Given the description of an element on the screen output the (x, y) to click on. 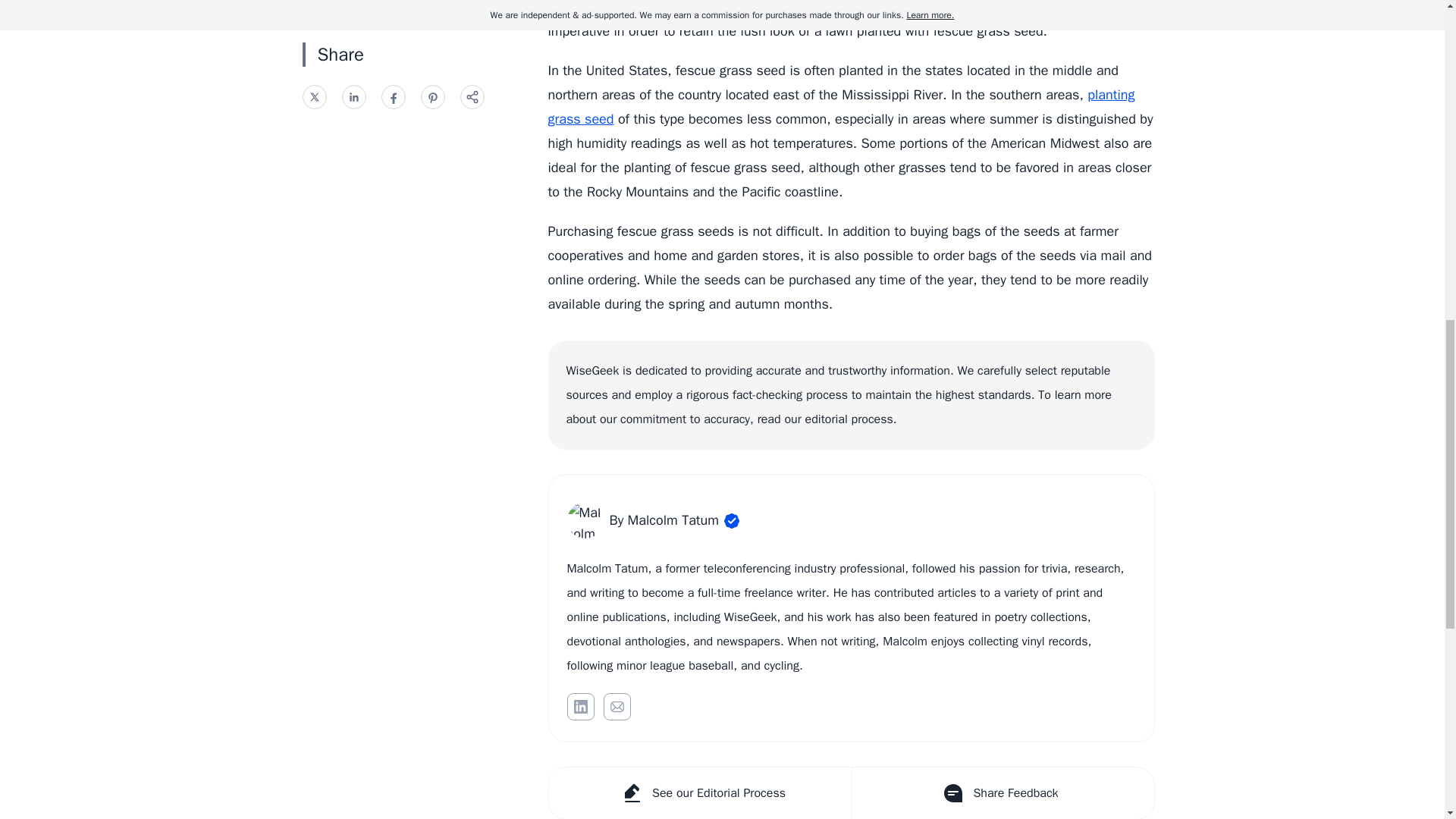
See our Editorial Process (699, 793)
planting grass seed (840, 106)
Share Feedback (1001, 793)
